Given the description of an element on the screen output the (x, y) to click on. 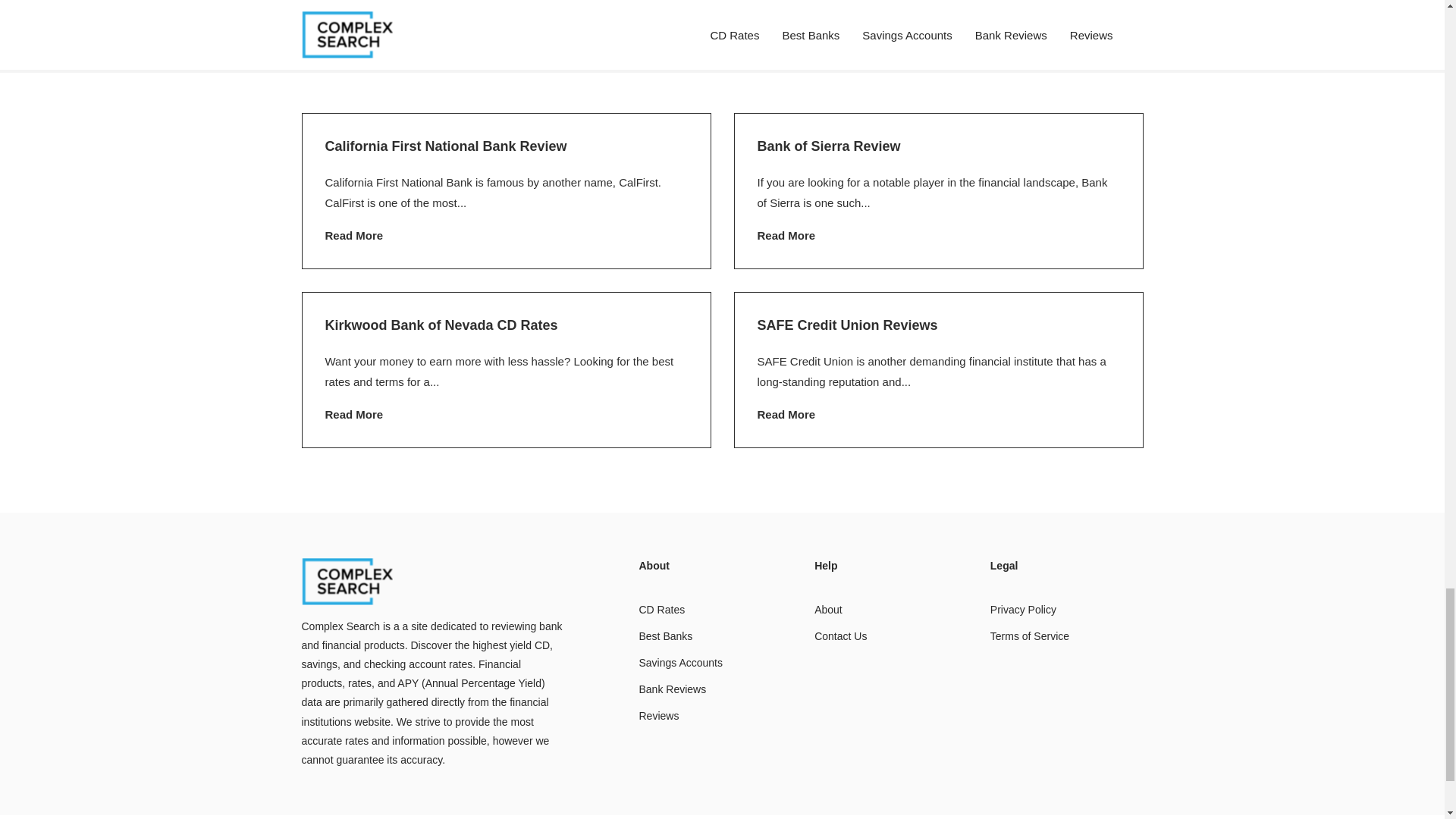
Read More (353, 56)
CD Rates (661, 609)
Read More (786, 235)
Bank Reviews (672, 689)
Best Banks (666, 635)
Savings Accounts (680, 662)
SAFE Credit Union Reviews (847, 324)
Bank of Sierra Review (828, 145)
Read More (353, 235)
California First National Bank Review (445, 145)
Read More (353, 413)
Read More (786, 413)
Kirkwood Bank of Nevada CD Rates (440, 324)
Read More (786, 56)
